Given the description of an element on the screen output the (x, y) to click on. 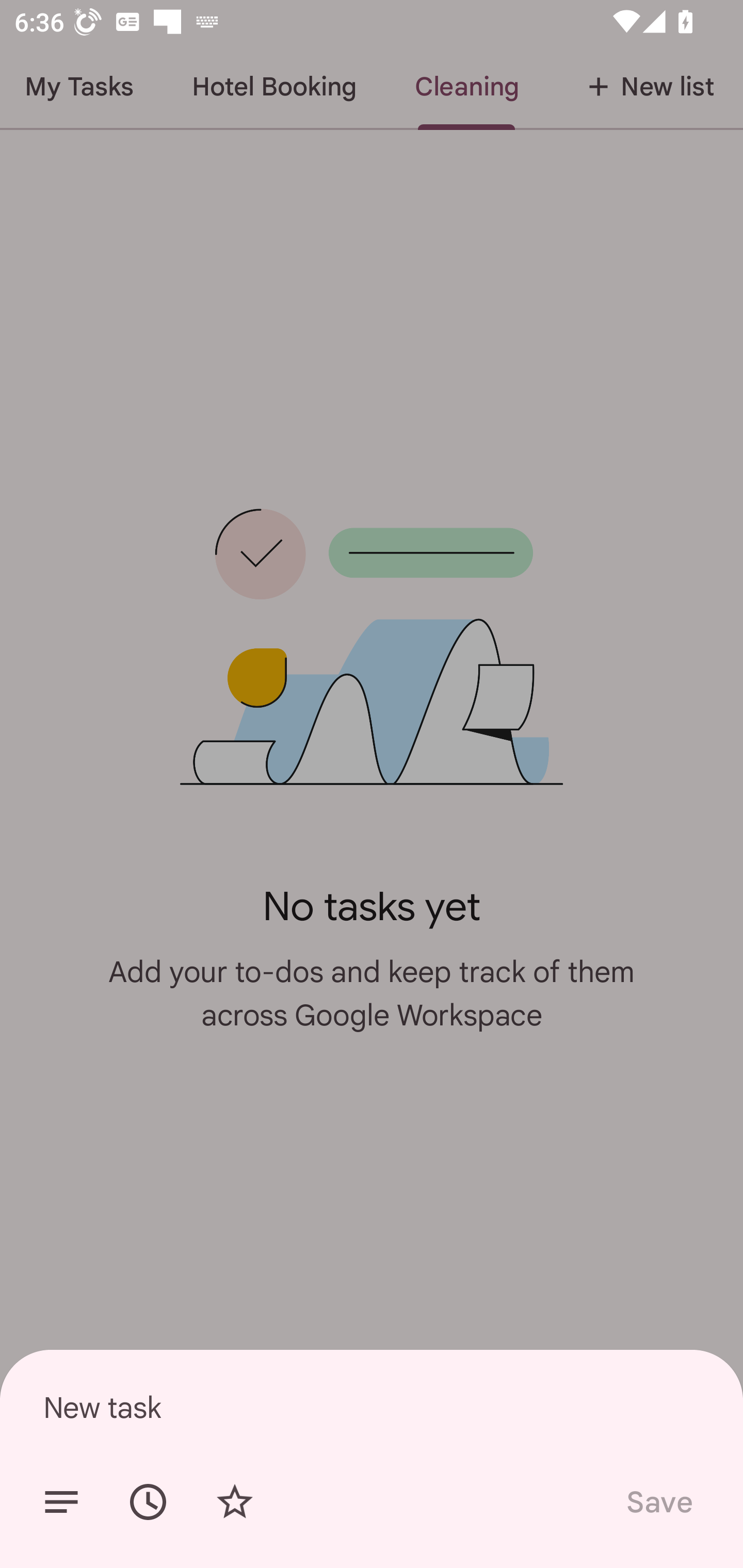
New task (371, 1407)
Save (659, 1501)
Add details (60, 1501)
Set date/time (147, 1501)
Add star (234, 1501)
